Given the description of an element on the screen output the (x, y) to click on. 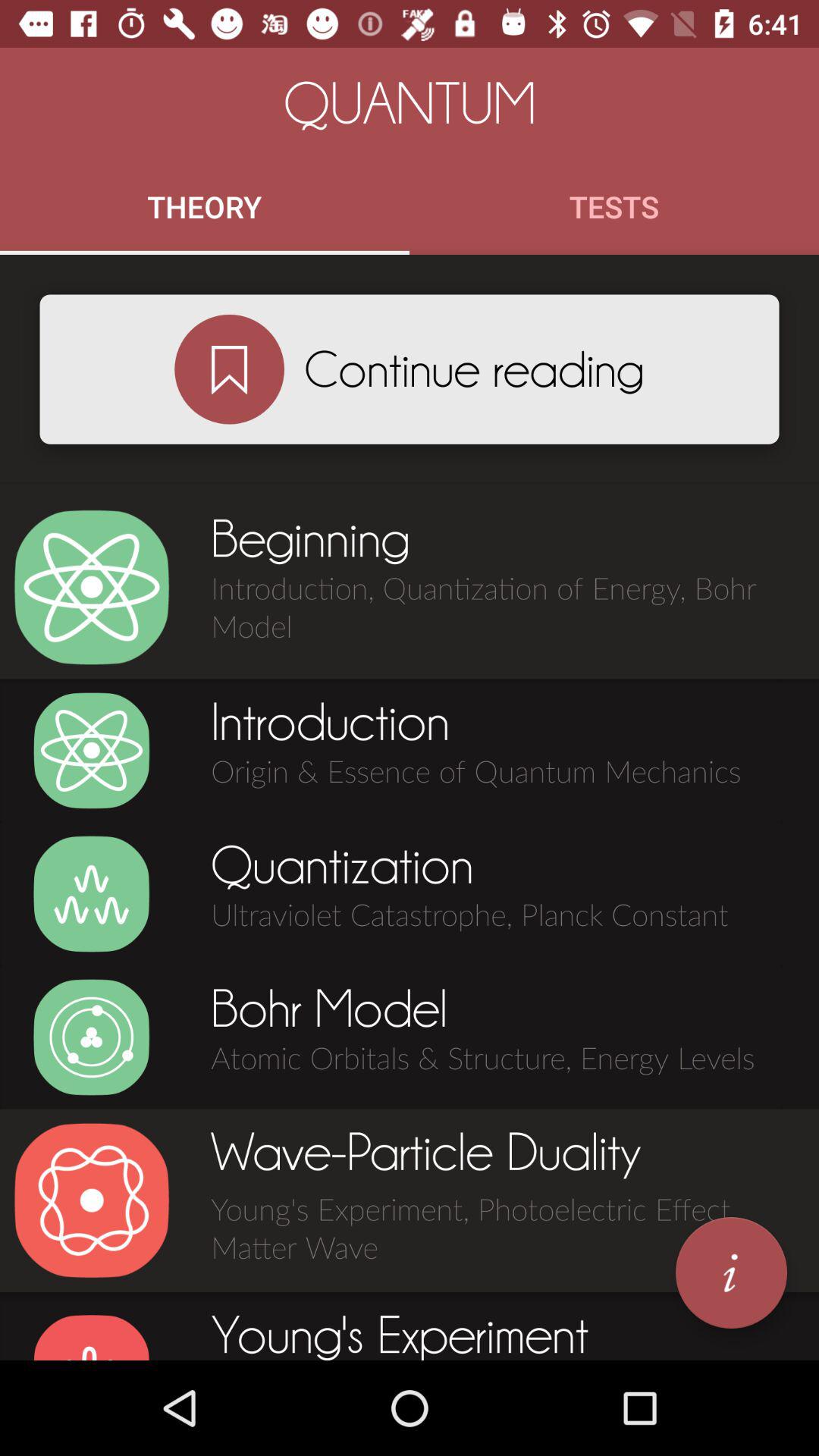
toggle auto option (91, 1037)
